Given the description of an element on the screen output the (x, y) to click on. 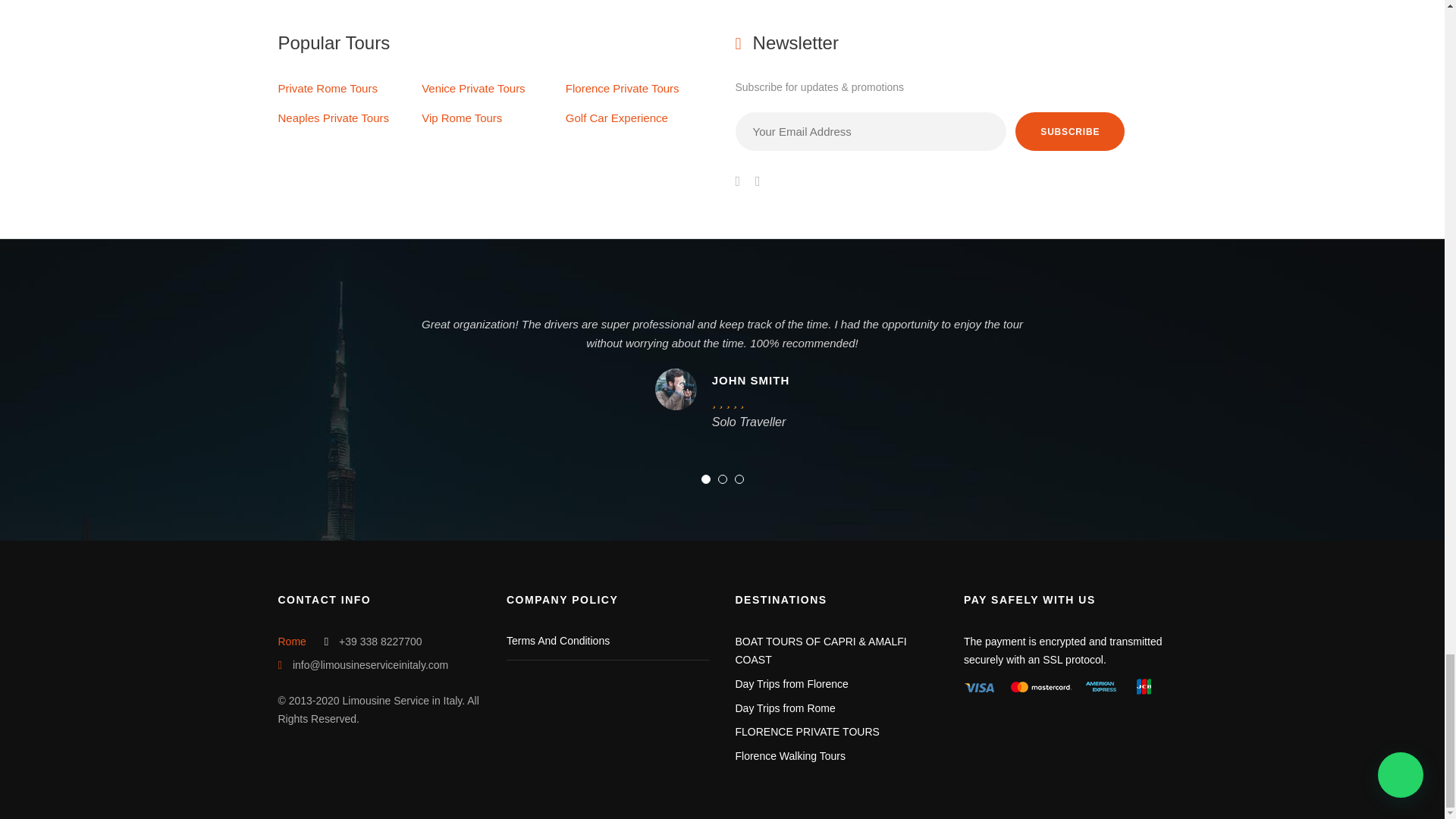
Subscribe (1069, 131)
personnel-2 (676, 389)
